Given the description of an element on the screen output the (x, y) to click on. 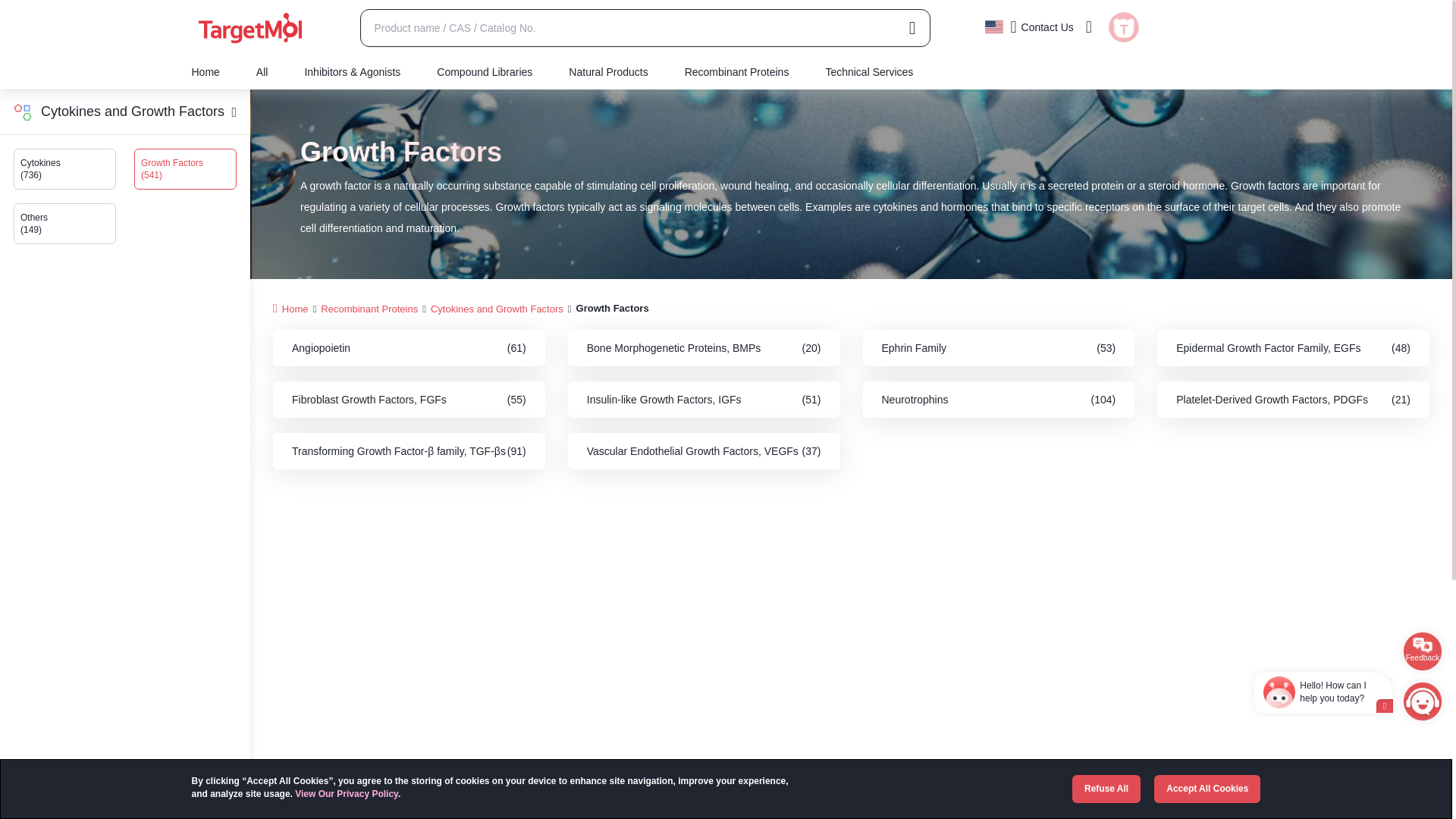
Contact Us (1043, 26)
Home (213, 72)
